Given the description of an element on the screen output the (x, y) to click on. 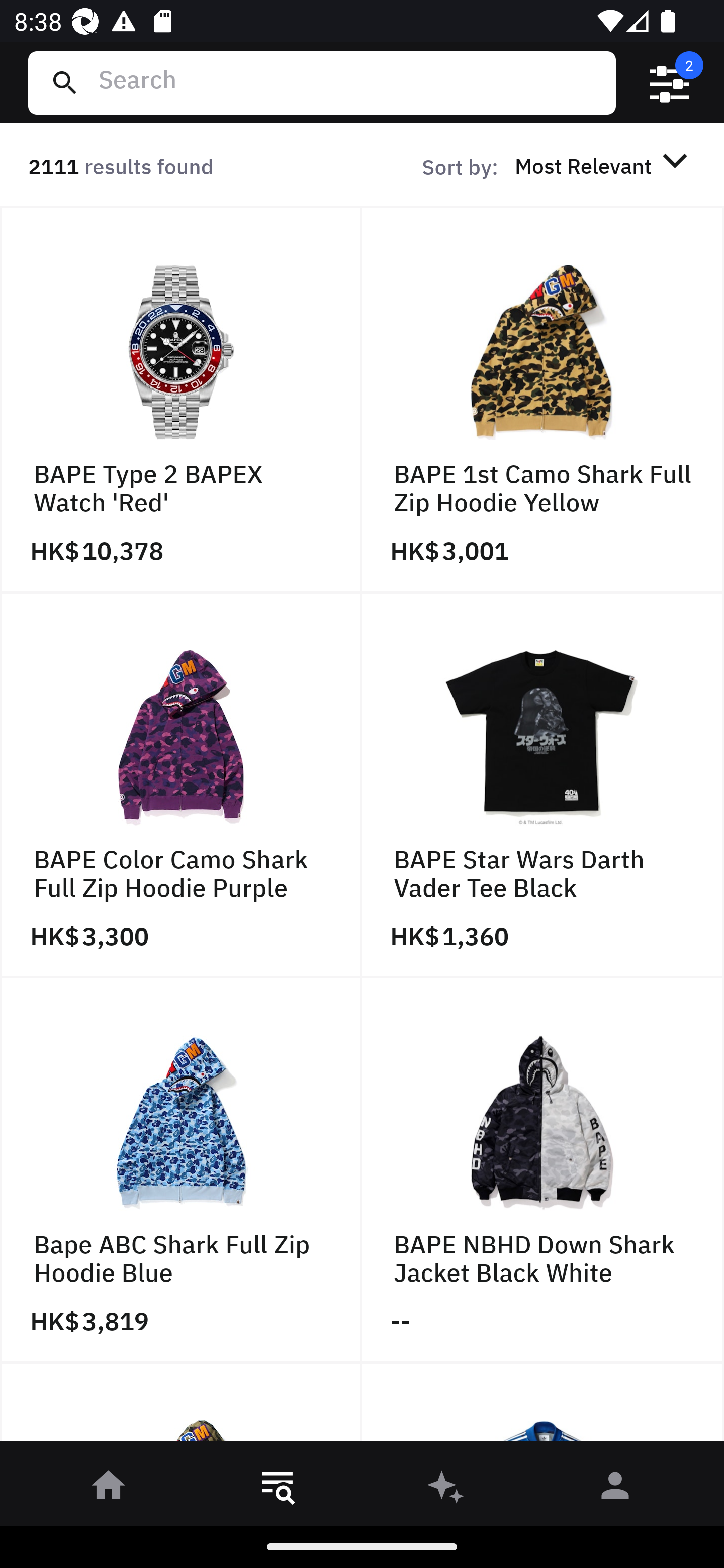
Search (349, 82)
 (669, 82)
Most Relevant  (604, 165)
BAPE Type 2 BAPEX Watch 'Red' HK$ 10,378 (181, 399)
BAPE Star Wars Darth Vader Tee Black HK$ 1,360 (543, 785)
Bape ABC Shark Full Zip Hoodie Blue HK$ 3,819 (181, 1171)
BAPE NBHD Down Shark Jacket Black White -- (543, 1171)
󰋜 (108, 1488)
󱎸 (277, 1488)
󰫢 (446, 1488)
󰀄 (615, 1488)
